Given the description of an element on the screen output the (x, y) to click on. 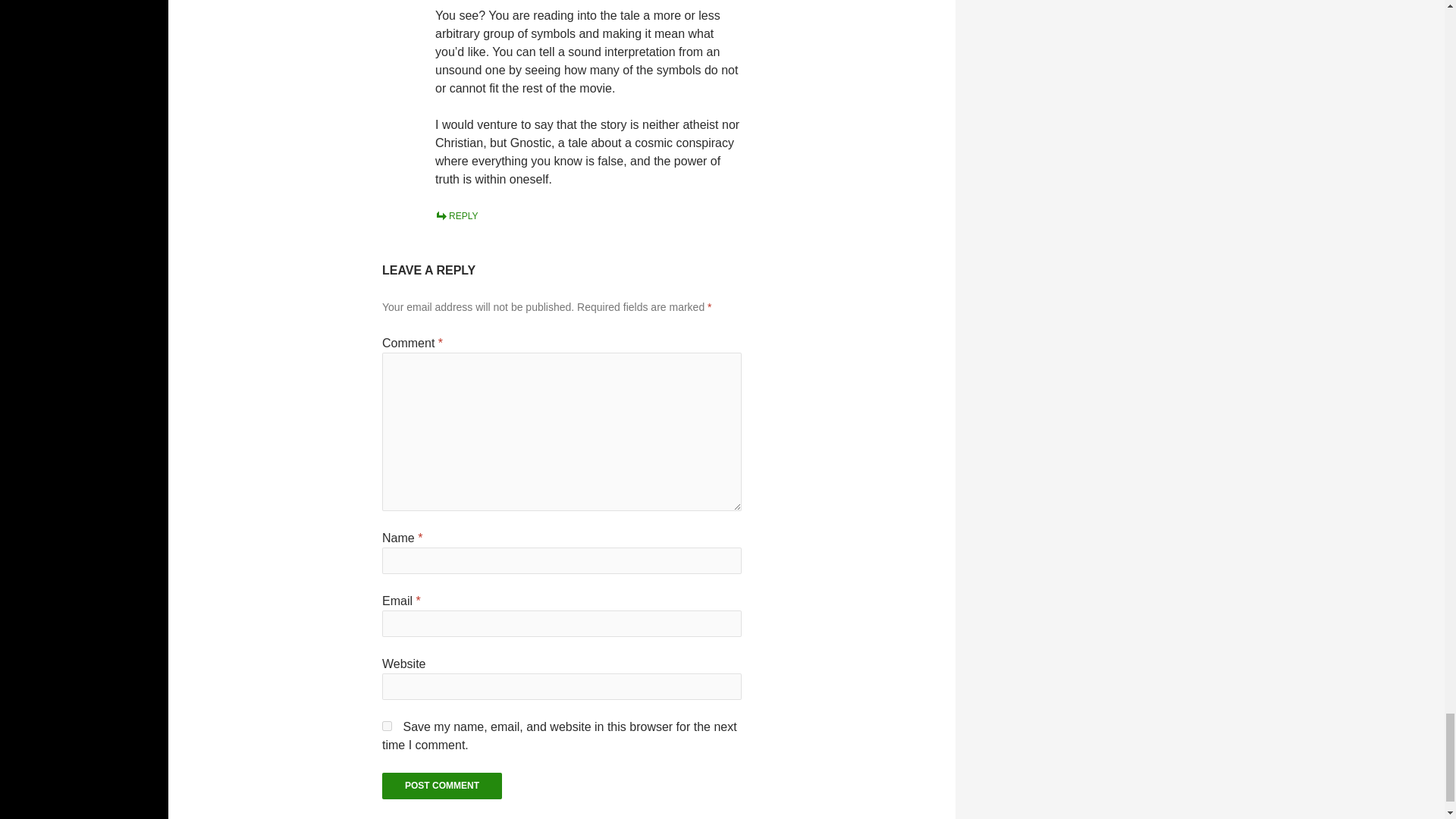
Post Comment (441, 786)
yes (386, 726)
